Given the description of an element on the screen output the (x, y) to click on. 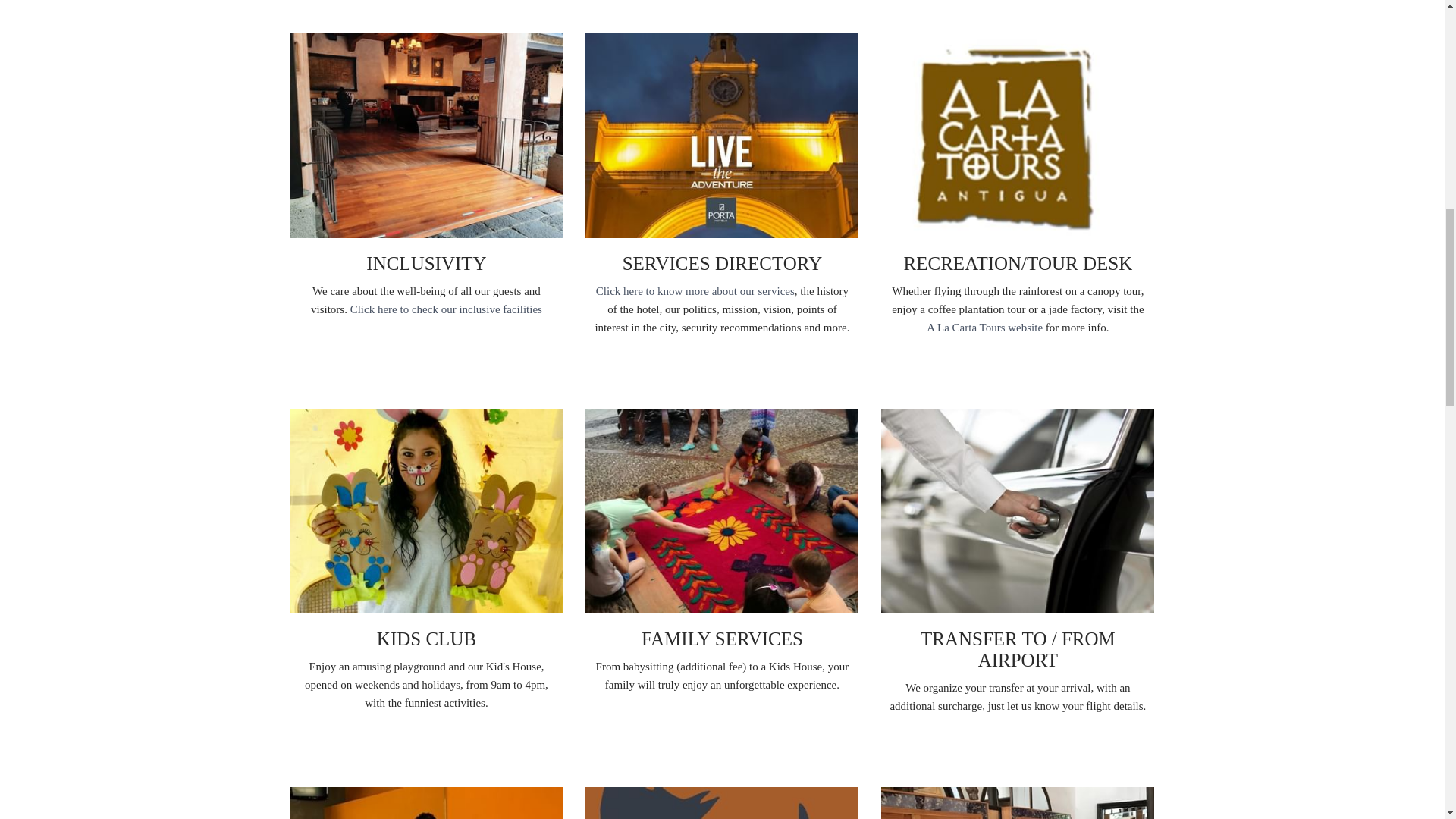
Click here to check our inclusive facilities (445, 309)
A La Carta Tours website (985, 327)
Click here to know more about our services (694, 291)
